Given the description of an element on the screen output the (x, y) to click on. 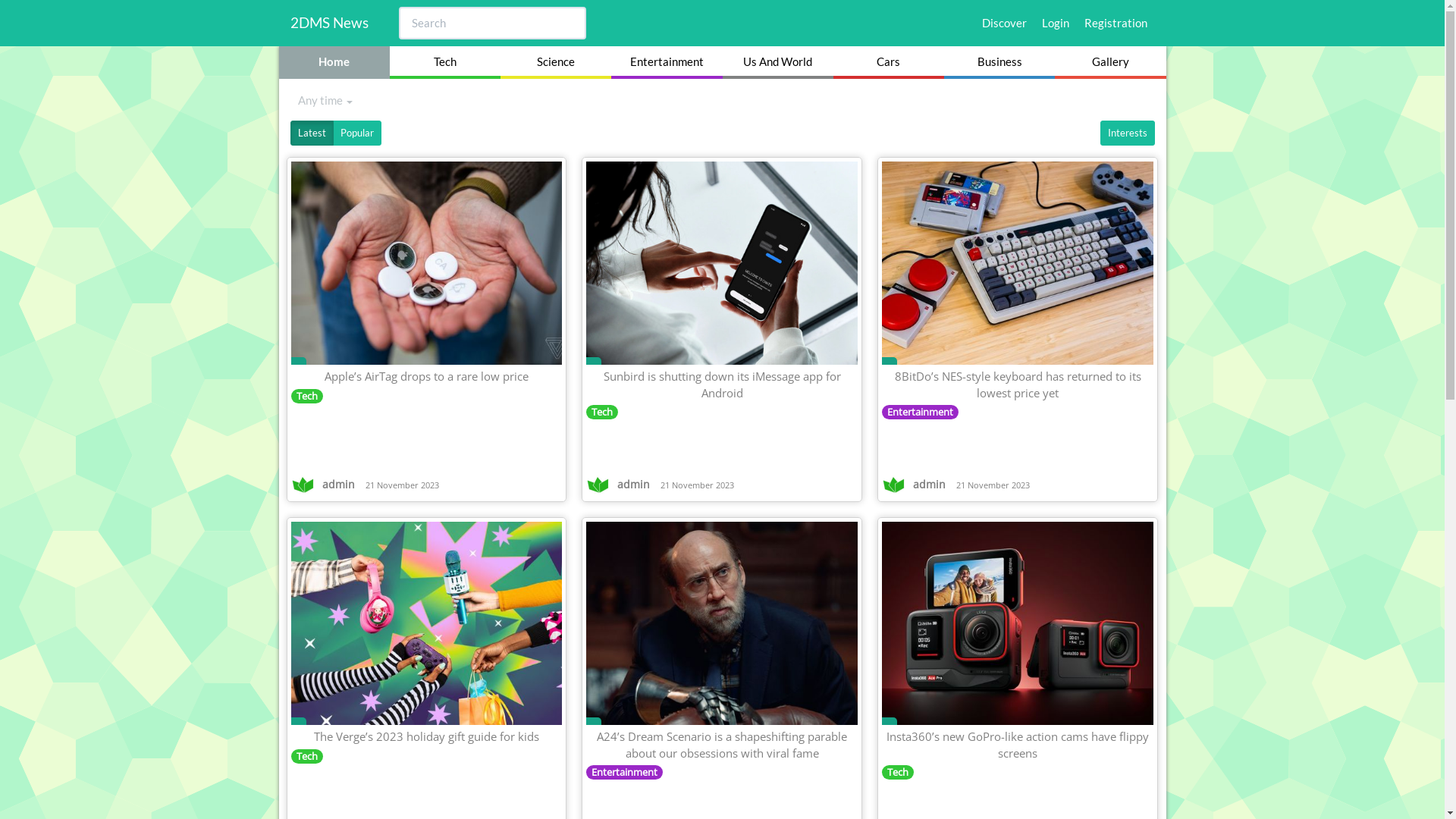
Tech Element type: text (307, 395)
Us And World Element type: text (776, 61)
Tech Element type: text (444, 61)
2DMS News Element type: text (329, 22)
Discover Element type: text (1003, 23)
admin Element type: text (324, 484)
Tech Element type: text (307, 755)
Gallery Element type: text (1109, 61)
Interests Element type: text (1126, 133)
Cars Element type: text (888, 61)
Business Element type: text (999, 61)
Home Element type: text (334, 61)
Any time Element type: text (324, 100)
Latest Element type: text (310, 133)
Tech Element type: text (897, 771)
Login Element type: text (1055, 23)
admin Element type: text (914, 484)
Entertainment Element type: text (919, 411)
Sunbird is shutting down its iMessage app for Android Element type: text (721, 384)
Registration Element type: text (1115, 23)
Popular Element type: text (356, 133)
Entertainment Element type: text (666, 61)
Science Element type: text (555, 61)
Tech Element type: text (602, 411)
Entertainment Element type: text (624, 771)
admin Element type: text (619, 484)
